Given the description of an element on the screen output the (x, y) to click on. 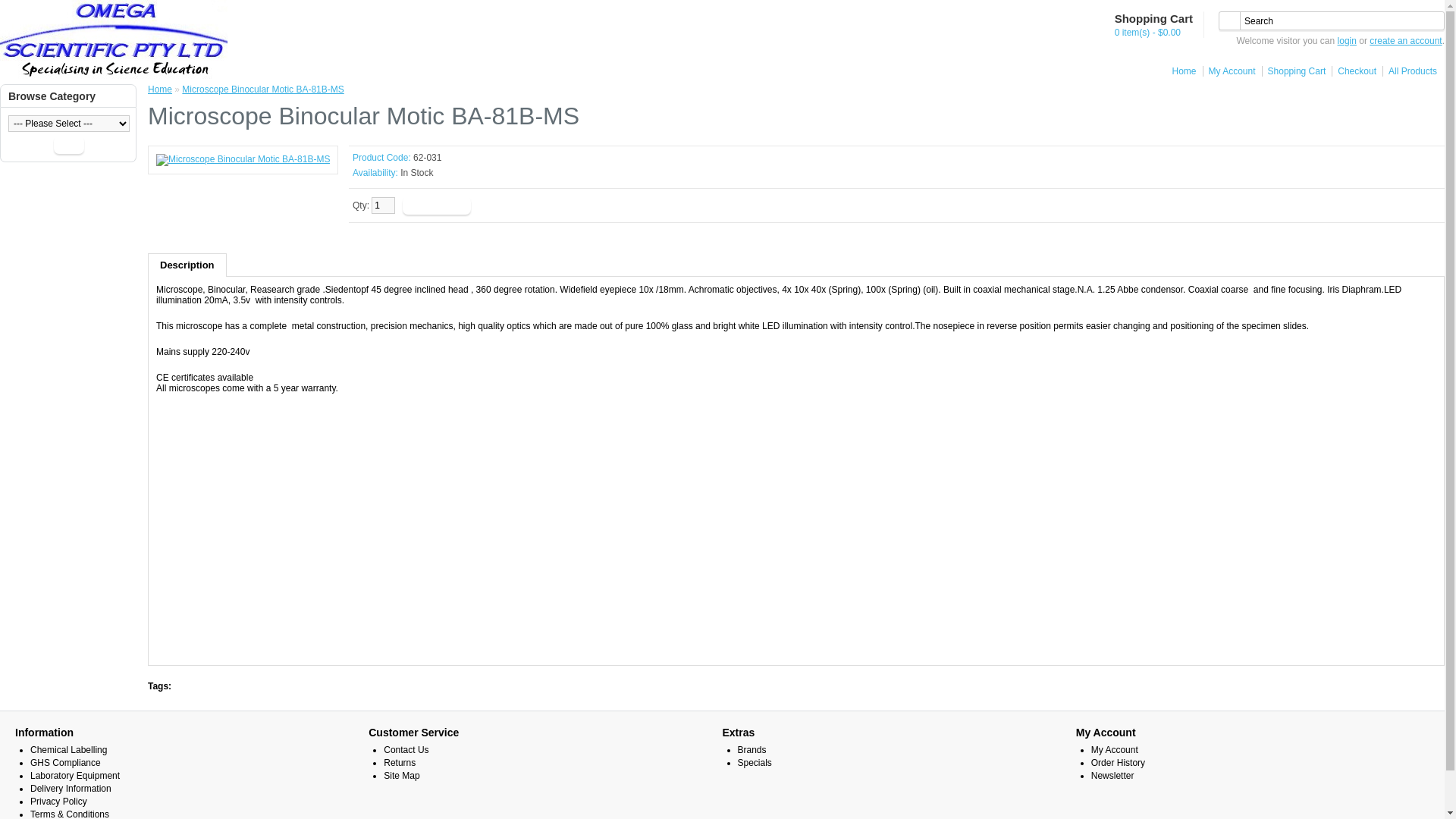
0 item(s) - $0.00 Element type: text (1153, 32)
Chemical Labelling Element type: text (68, 749)
Site Map Element type: text (401, 775)
Delivery Information Element type: text (70, 788)
Microscope Binocular Motic BA-81B-MS Element type: hover (242, 158)
Order History Element type: text (1118, 762)
All Products Element type: text (1409, 70)
GHS Compliance Element type: text (65, 762)
Contact Us Element type: text (405, 749)
Checkout Element type: text (1353, 70)
Go Element type: text (68, 144)
Home Element type: text (159, 89)
Brands Element type: text (751, 749)
login Element type: text (1346, 40)
My Account Element type: text (1228, 70)
Privacy Policy Element type: text (58, 801)
Newsletter Element type: text (1112, 775)
Home Element type: text (1180, 70)
Returns Element type: text (399, 762)
Shopping Cart Element type: text (1293, 70)
Search Element type: text (1331, 20)
Description Element type: text (186, 264)
create an account Element type: text (1405, 40)
Microscope Binocular Motic BA-81B-MS Element type: hover (242, 159)
Microscope Binocular Motic BA-81B-MS Element type: text (262, 89)
Omega Scientific Pty Ltd. Element type: hover (113, 40)
My Account Element type: text (1114, 749)
Laboratory Equipment Element type: text (74, 775)
Specials Element type: text (754, 762)
